Given the description of an element on the screen output the (x, y) to click on. 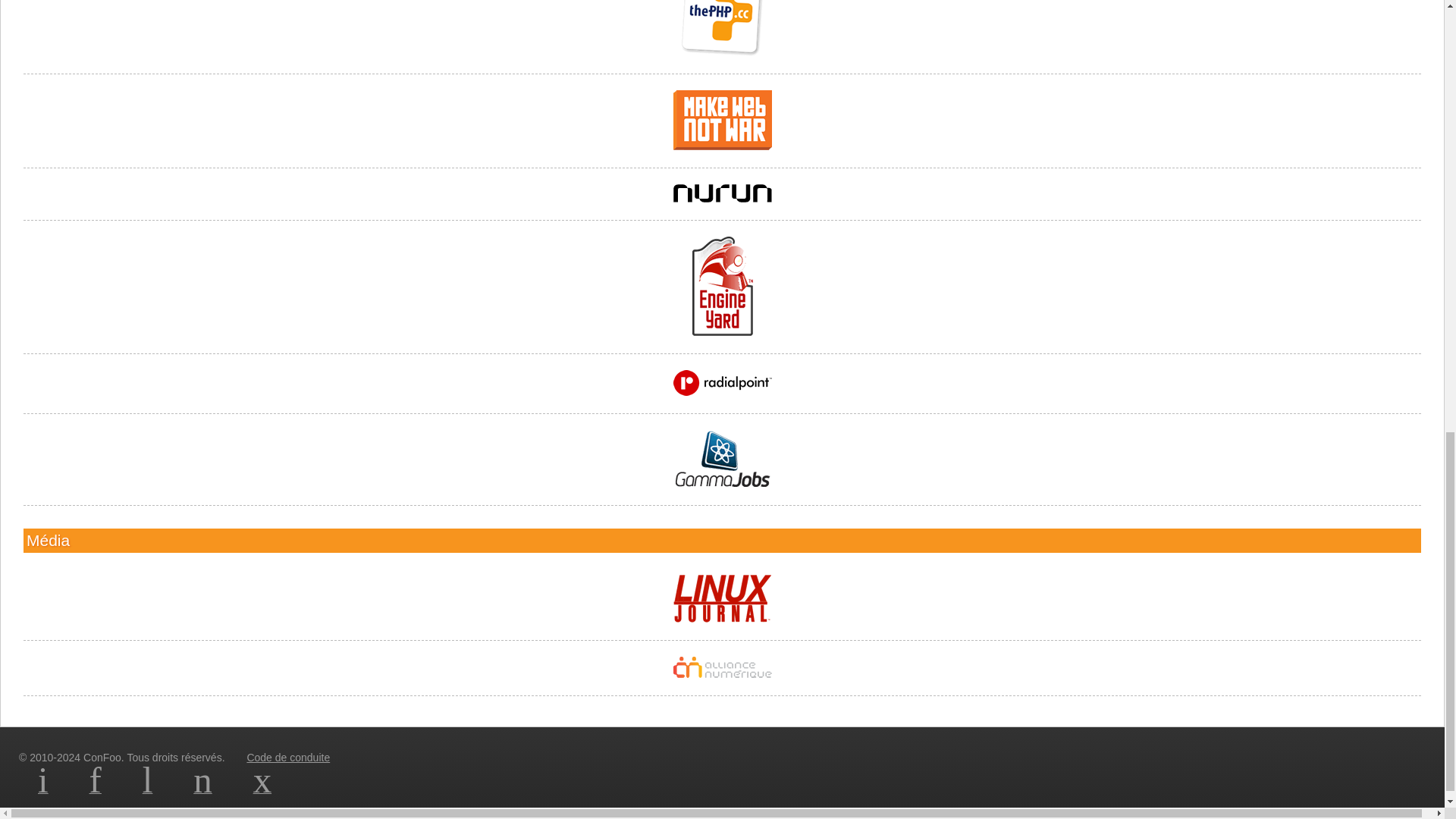
Twitter feed (147, 788)
Facebook page (94, 788)
Code de conduite (288, 757)
Flickr photos (202, 788)
YouTube channel (262, 788)
LinkedIn group (42, 788)
